Given the description of an element on the screen output the (x, y) to click on. 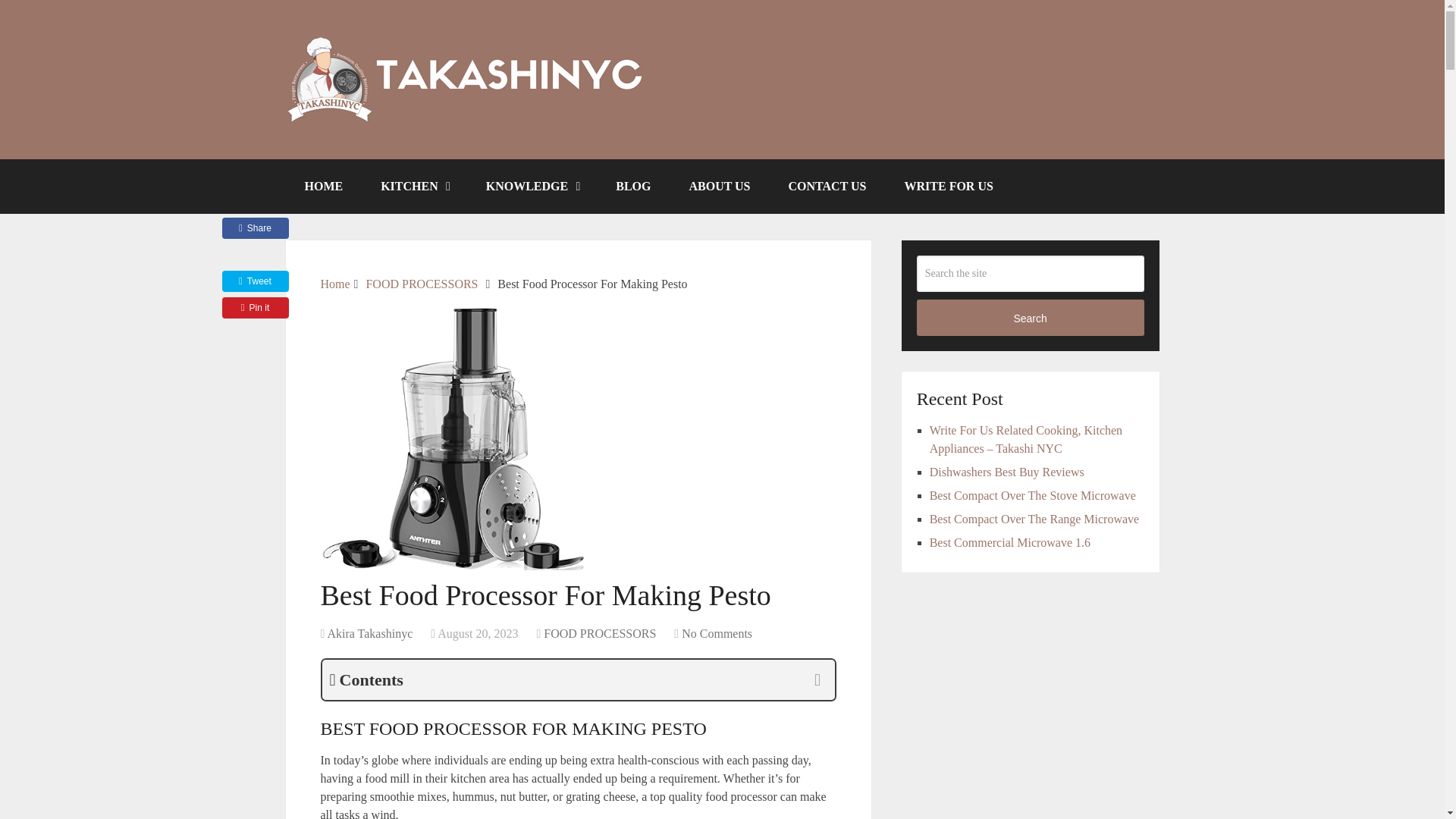
WRITE FOR US (948, 185)
ABOUT US (718, 185)
No Comments (716, 633)
KITCHEN (414, 185)
KNOWLEDGE (531, 185)
FOOD PROCESSORS (421, 283)
Posts by Akira Takashinyc (369, 633)
HOME (323, 185)
Home (334, 283)
FOOD PROCESSORS (599, 633)
BLOG (632, 185)
CONTACT US (827, 185)
View all posts in FOOD PROCESSORS (599, 633)
Akira Takashinyc (369, 633)
